Given the description of an element on the screen output the (x, y) to click on. 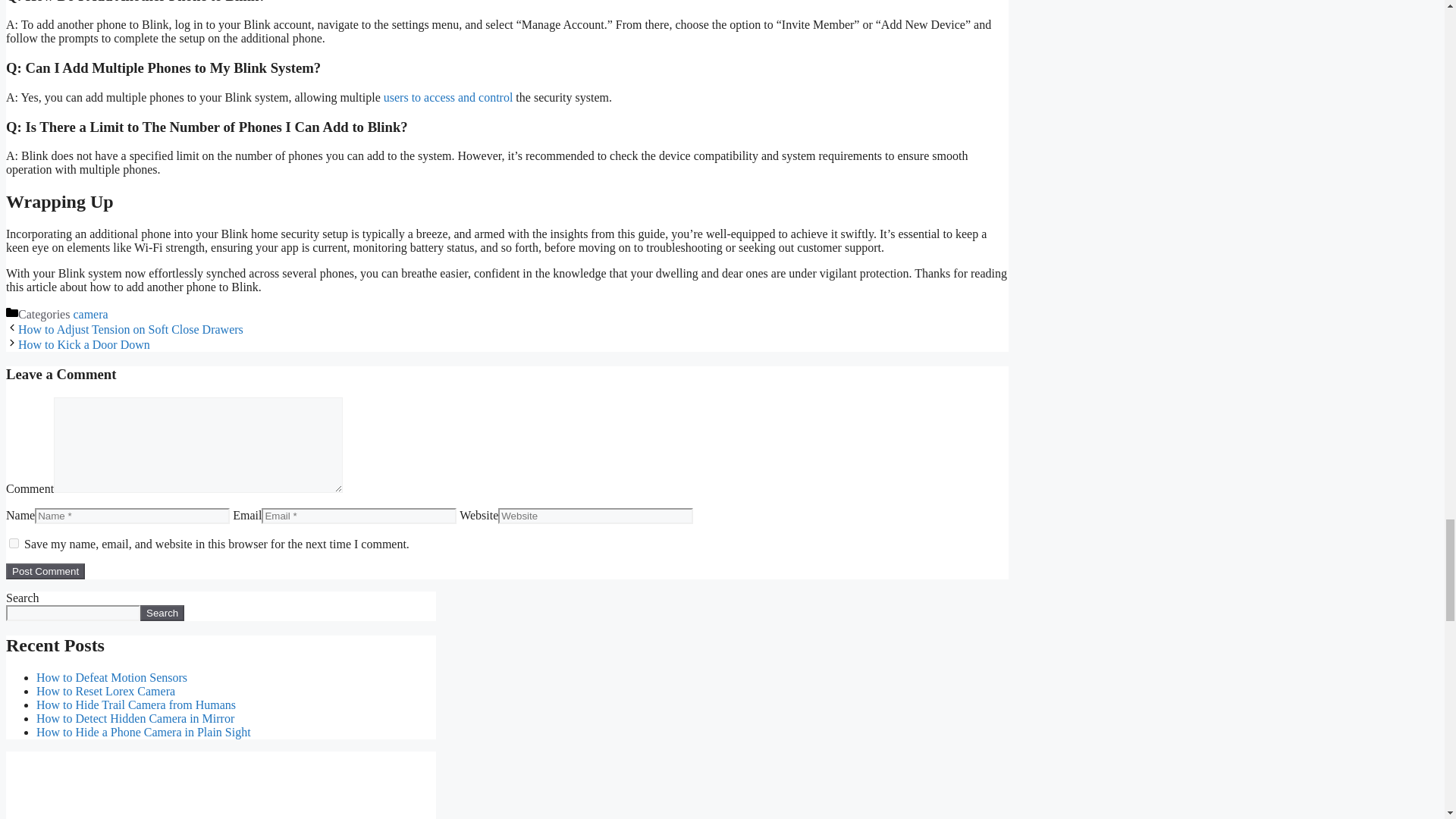
How to Adjust Tension on Soft Close Drawers (130, 328)
Post Comment (44, 571)
yes (13, 542)
How to Reset Lorex Camera (105, 690)
camera (89, 314)
How to Kick a Door Down (83, 344)
How to Detect Hidden Camera in Mirror (135, 717)
users to access and control (448, 97)
How to Hide a Phone Camera in Plain Sight (143, 731)
Search (161, 612)
How to Defeat Motion Sensors (111, 676)
How to Hide Trail Camera from Humans (135, 704)
Post Comment (44, 571)
